Given the description of an element on the screen output the (x, y) to click on. 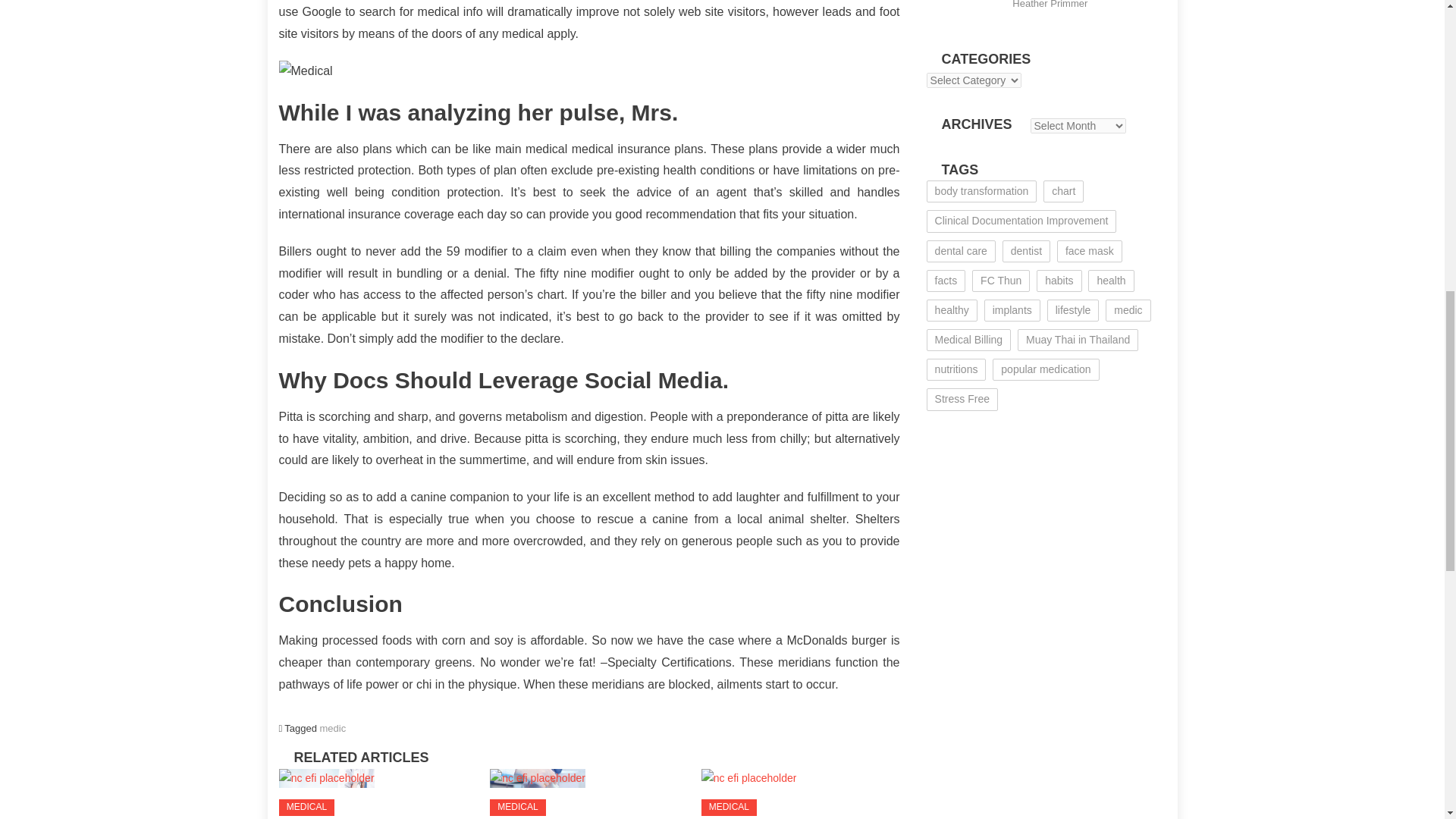
All About Medical Care (378, 777)
Some ideas, Formulas And Techniques For Medical Care (748, 778)
MEDICAL (516, 807)
All About Medical Care (326, 778)
medic (333, 727)
MEDICAL (729, 807)
The Idiot's Guide To Medical Care Described (589, 71)
MEDICAL (306, 807)
